Given the description of an element on the screen output the (x, y) to click on. 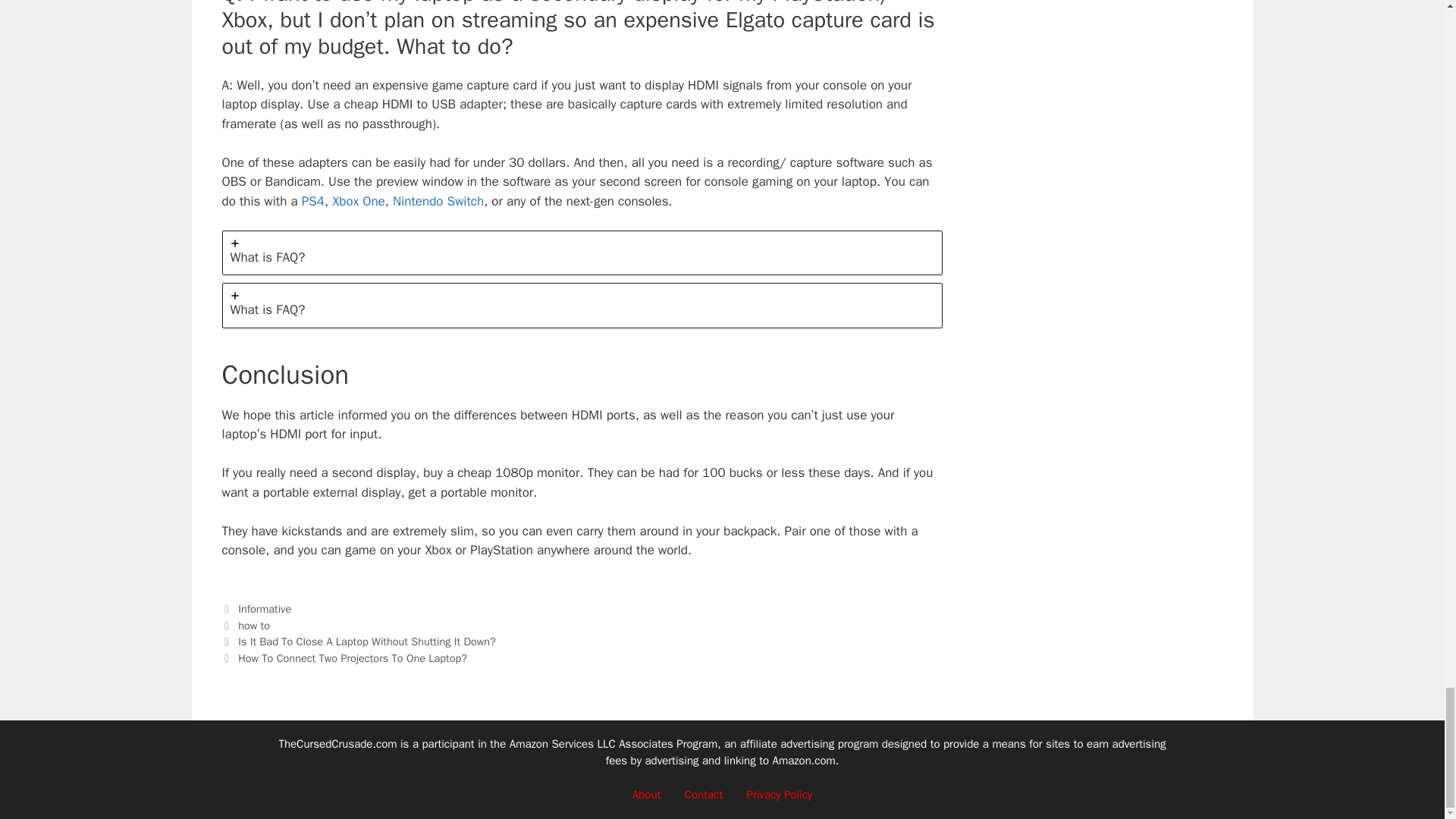
About (646, 794)
How To Connect Two Projectors To One Laptop? (352, 658)
how to (253, 625)
Contact (703, 794)
Nintendo Switch (438, 201)
Informative (264, 608)
Is It Bad To Close A Laptop Without Shutting It Down? (367, 641)
PS4 (312, 201)
Privacy Policy (779, 794)
Xbox One (358, 201)
